Given the description of an element on the screen output the (x, y) to click on. 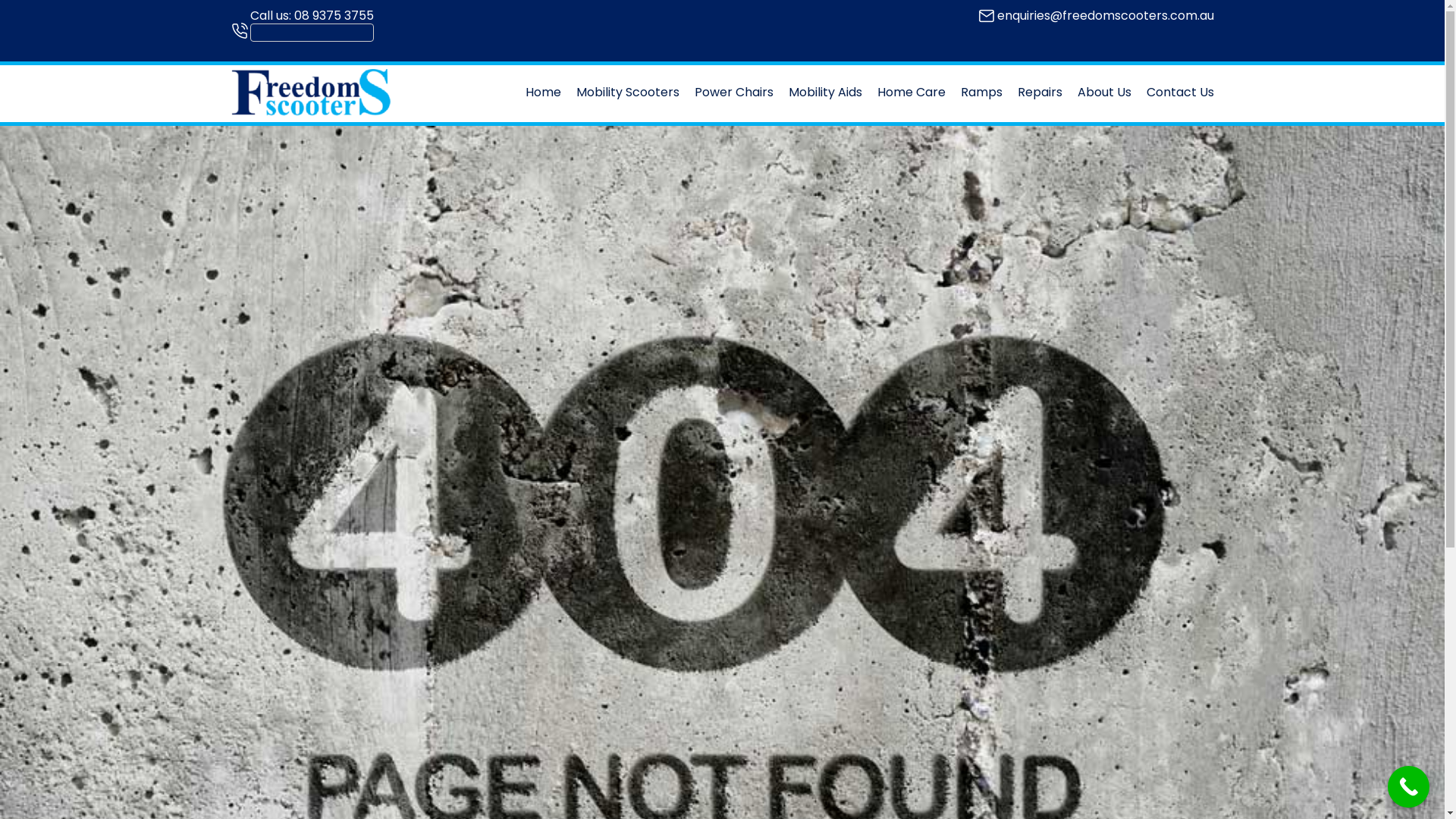
About Us Element type: text (1103, 92)
Mobility Aids Element type: text (825, 92)
Power Chairs Element type: text (733, 92)
Home Care Element type: text (910, 92)
enquiries@freedomscooters.com.au Element type: text (1104, 15)
Mobility Scooters Element type: text (627, 92)
Home Element type: text (542, 92)
08 9375 3755 Element type: text (333, 15)
Repairs Element type: text (1039, 92)
Contact Us Element type: text (1180, 92)
Ramps Element type: text (980, 92)
